Given the description of an element on the screen output the (x, y) to click on. 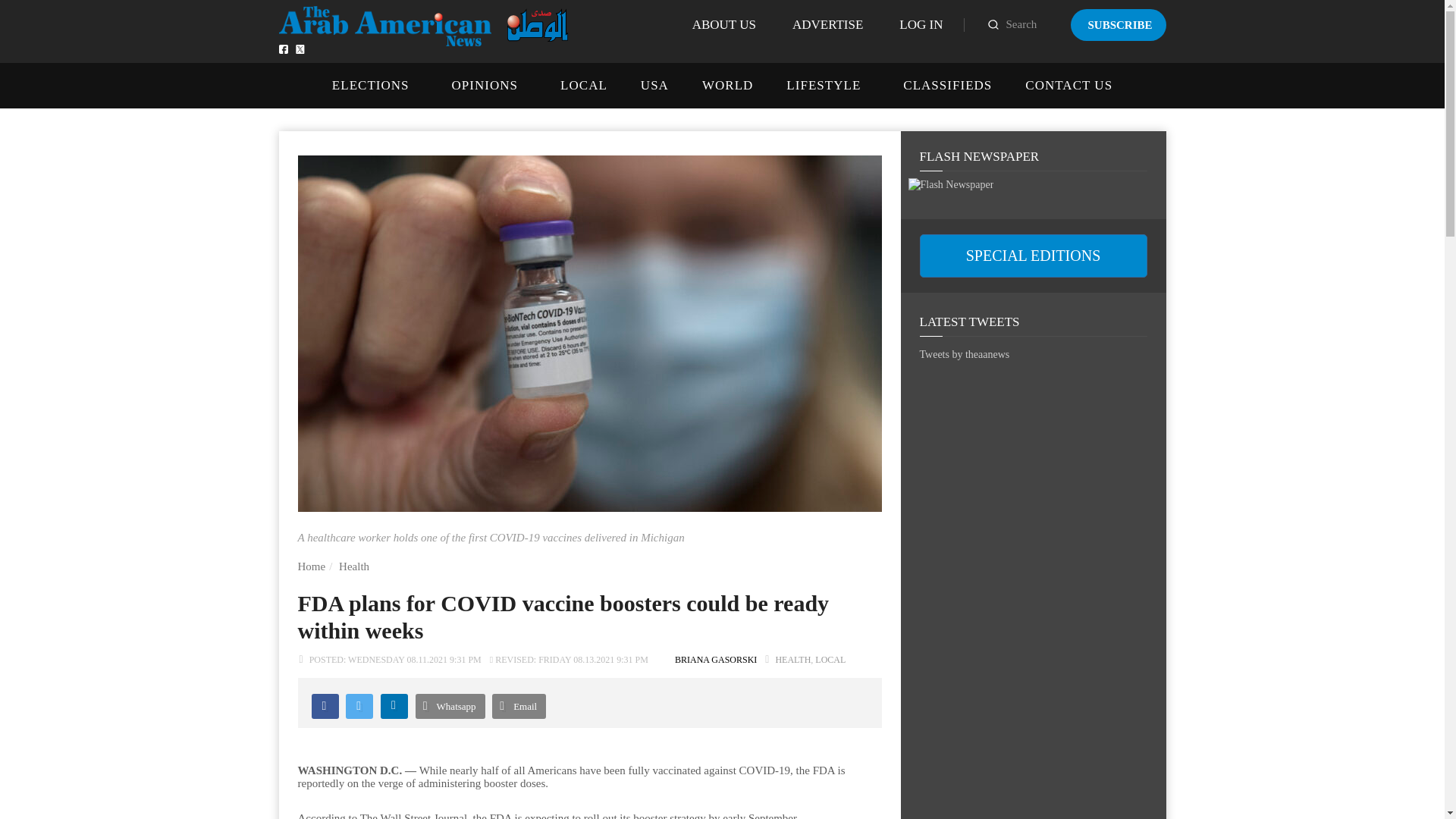
Health (354, 566)
USA (654, 84)
LOG IN (920, 24)
Health (354, 566)
WORLD (726, 84)
Home (310, 566)
CLASSIFIEDS (946, 84)
LIFESTYLE (823, 84)
ABOUT US (724, 24)
OPINIONS (484, 84)
View all posts in Health (792, 659)
ADVERTISE (827, 24)
CONTACT US (1068, 84)
LOCAL (583, 84)
SUBSCRIBE (1118, 24)
